Given the description of an element on the screen output the (x, y) to click on. 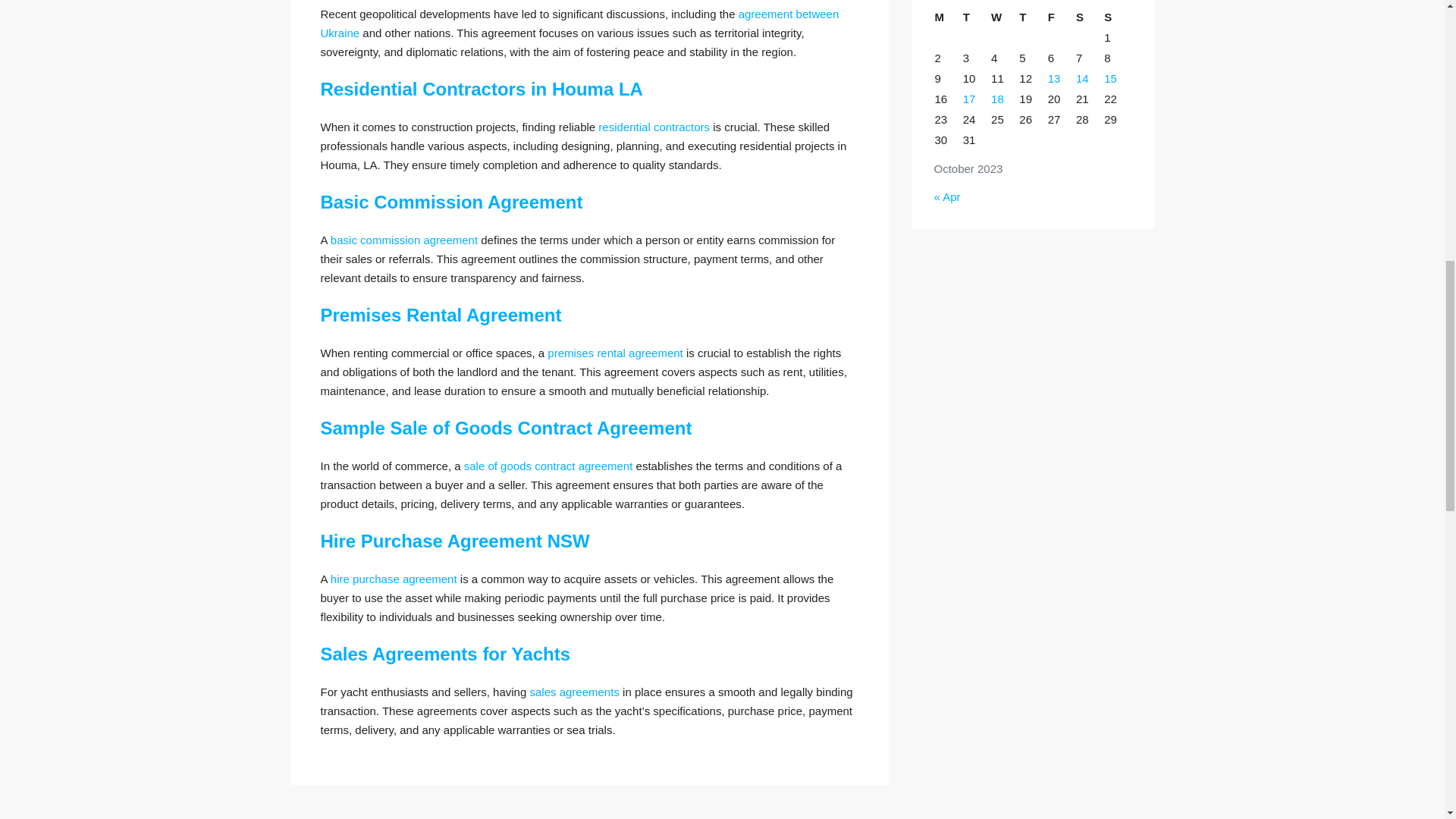
hire purchase agreement (393, 578)
agreement between Ukraine (579, 23)
Hire Purchase Agreement NSW (454, 540)
sale of goods contract agreement (548, 465)
residential contractors (654, 126)
premises rental agreement (614, 352)
basic commission agreement (403, 239)
Saturday (1089, 16)
Sample Sale of Goods Contract Agreement (505, 427)
Friday (1060, 16)
